Given the description of an element on the screen output the (x, y) to click on. 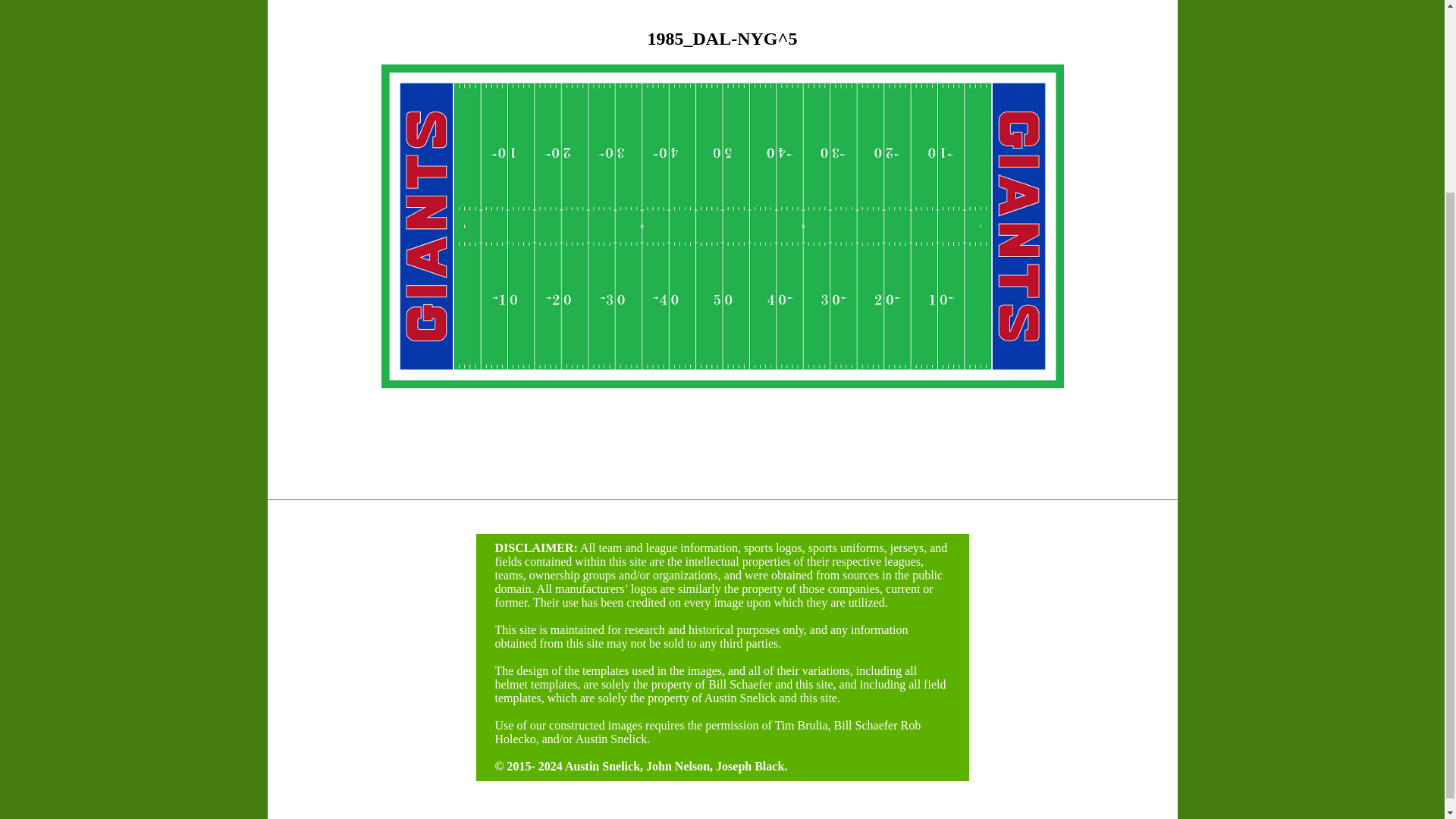
Advertisement (316, 265)
Advertisement (1128, 265)
